Given the description of an element on the screen output the (x, y) to click on. 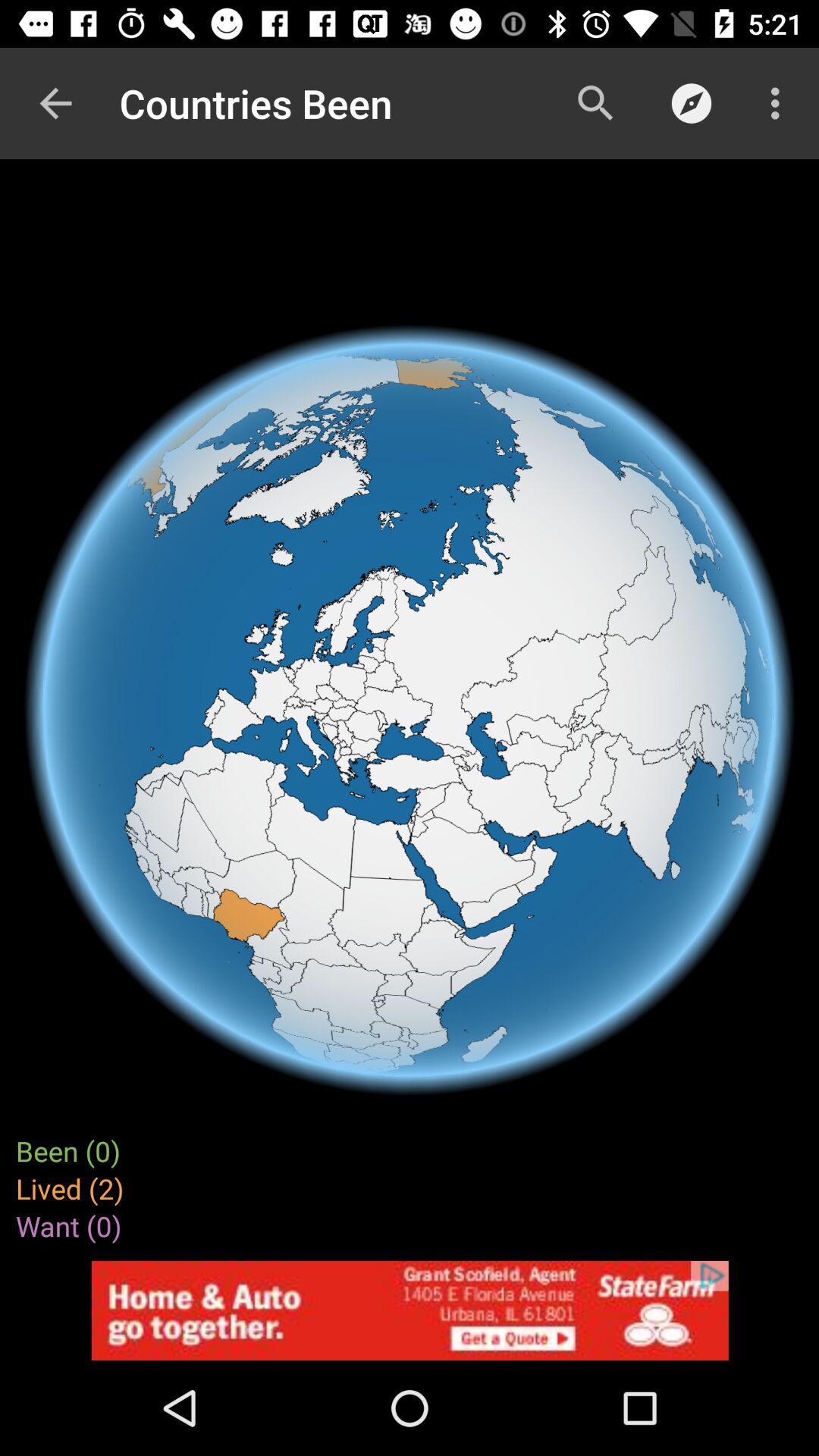
advertisement page (409, 1310)
